Given the description of an element on the screen output the (x, y) to click on. 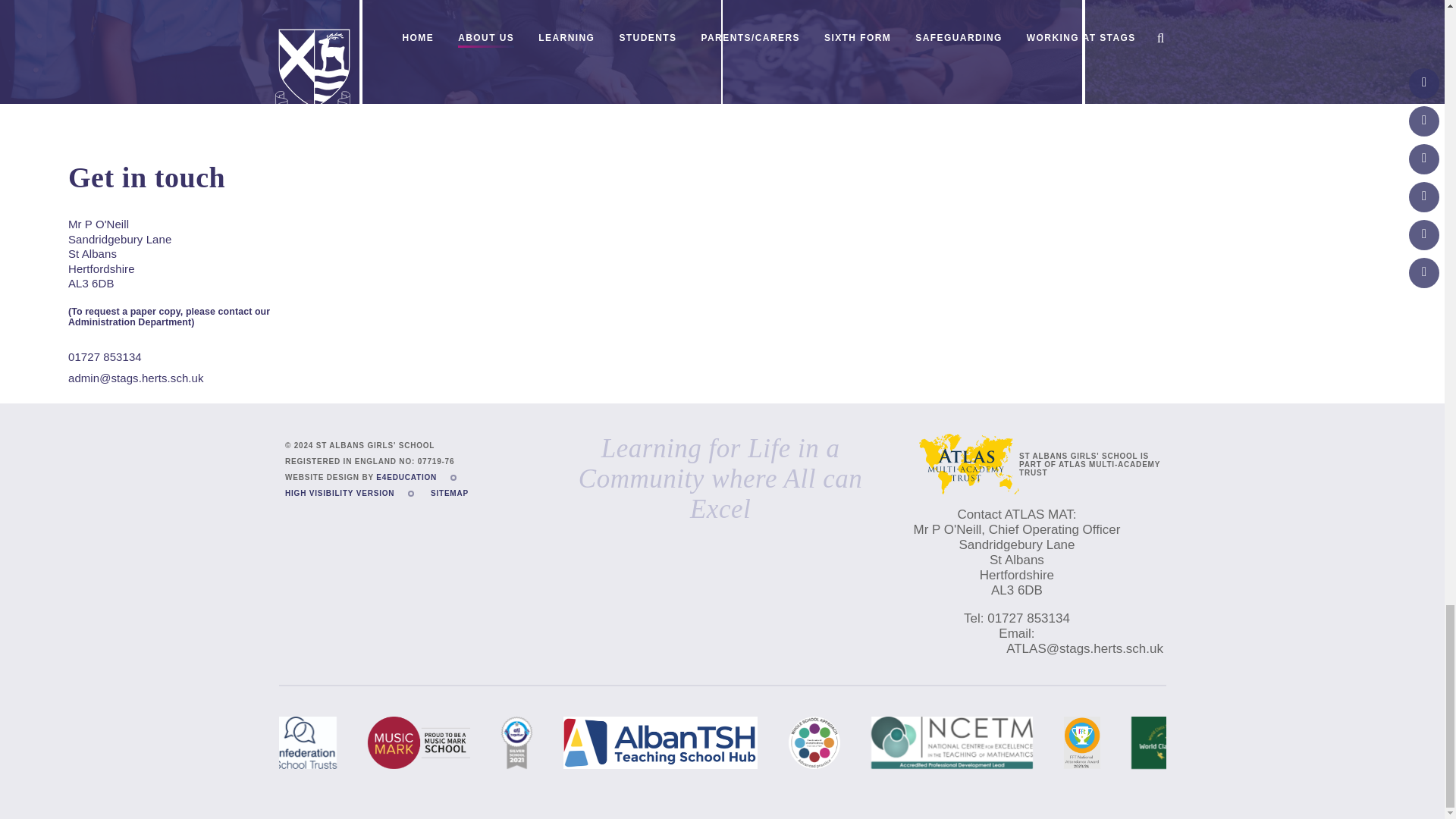
World Class Schools (1168, 742)
Confederation of School Trusts (299, 742)
National Centre for Excellence in teaching Maths  (951, 742)
Alban Teaching School Hub (660, 742)
Music Mark (419, 742)
